Given the description of an element on the screen output the (x, y) to click on. 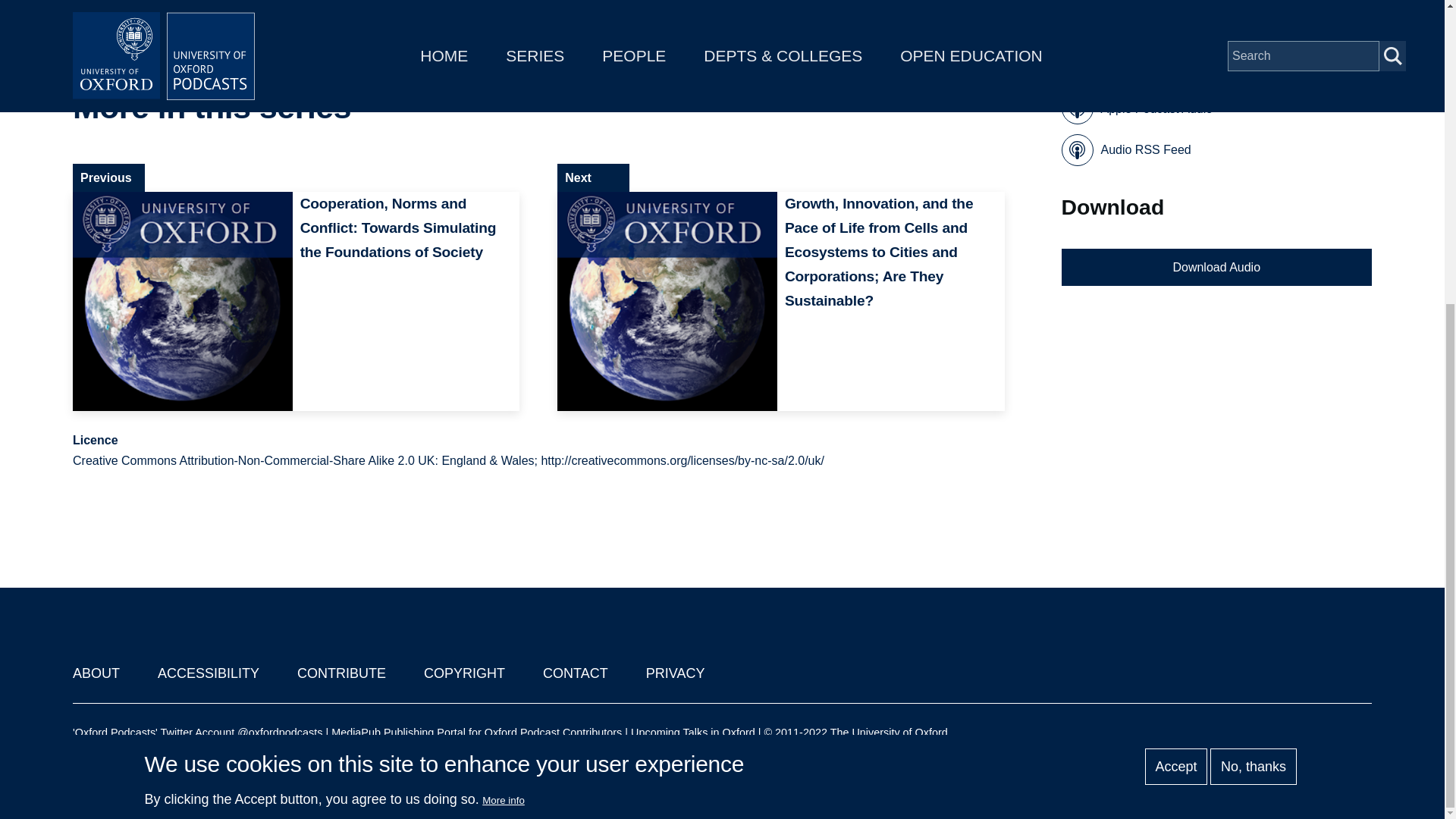
Apple Podcast Audio (1136, 108)
View Series (959, 107)
ACCESSIBILITY (208, 672)
Audio RSS Feed (1126, 150)
More info (502, 324)
Download Audio (1217, 266)
Accept (1175, 289)
CONTACT (575, 672)
ABOUT (95, 672)
CONTRIBUTE (341, 672)
Upcoming Talks in Oxford (692, 732)
PRIVACY (675, 672)
MediaPub Publishing Portal for Oxford Podcast Contributors (476, 732)
